Given the description of an element on the screen output the (x, y) to click on. 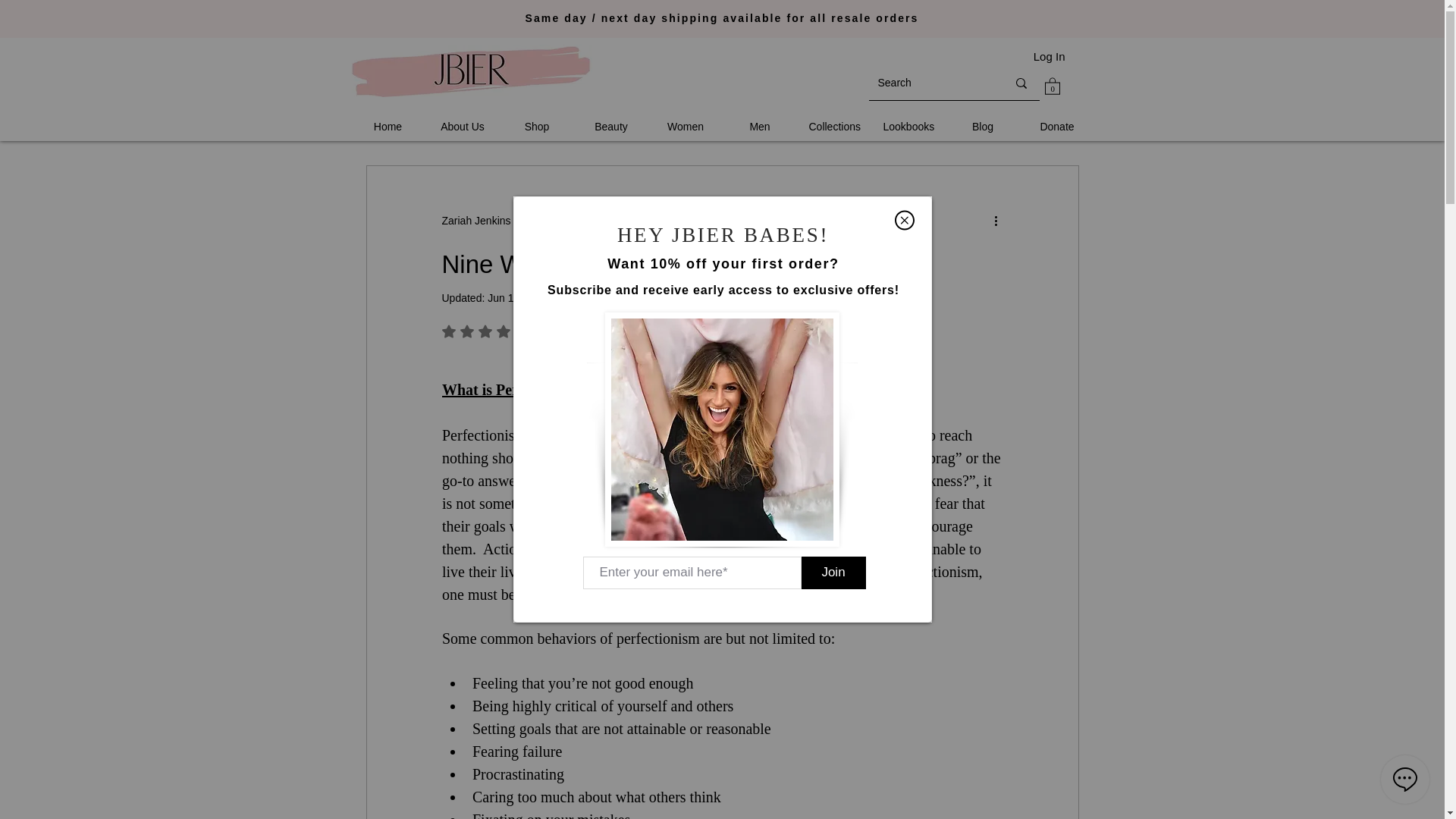
Multicolored Framed Shades (722, 429)
Back to site (904, 219)
Log In (1049, 56)
Zariah Jenkins (476, 220)
Home (387, 126)
Jan 13, 2021 (568, 219)
Jun 16, 2021 (517, 297)
